Given the description of an element on the screen output the (x, y) to click on. 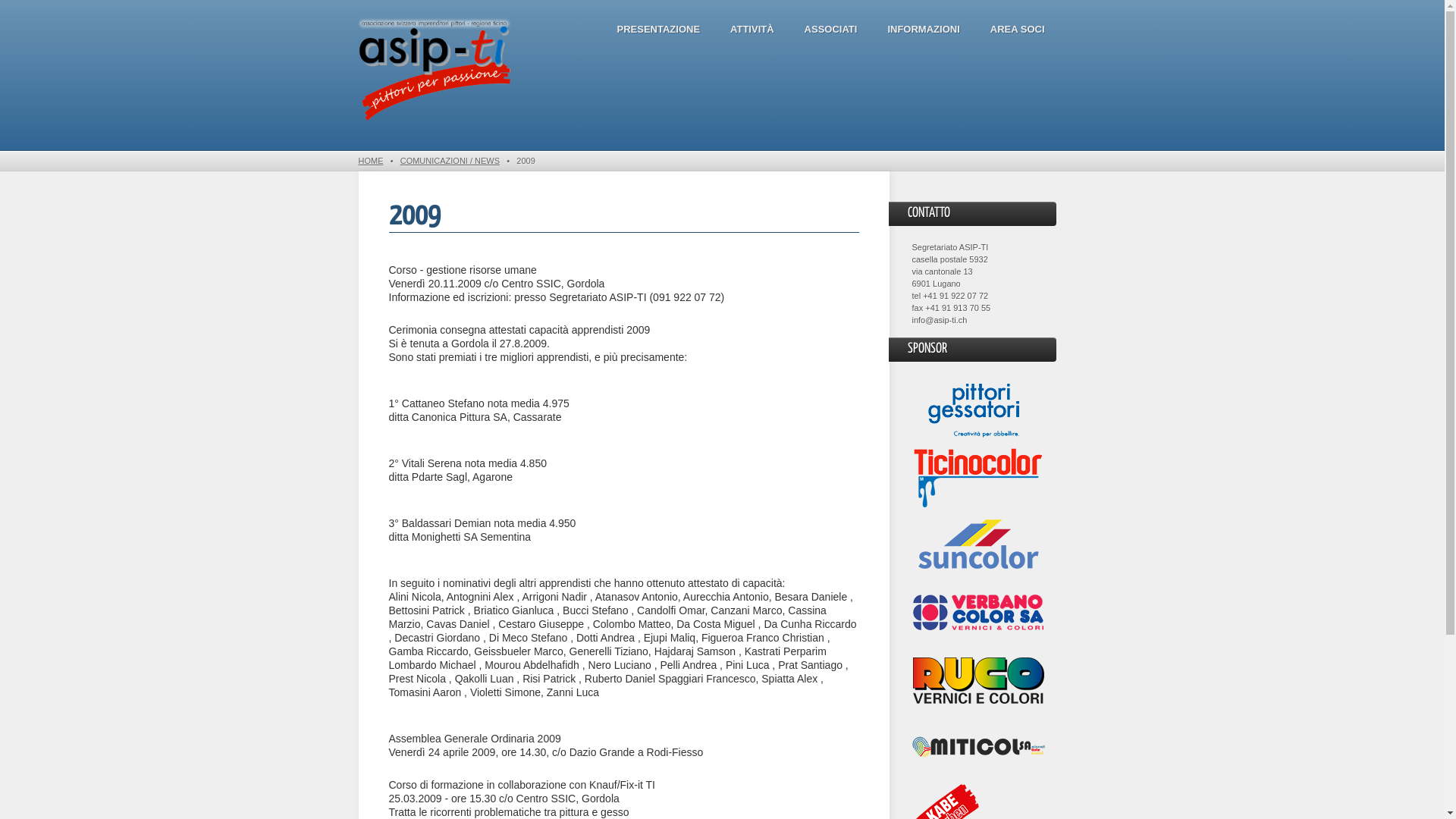
Associazione Svizzera Imprenditori Pittori - Regione Ticino Element type: hover (433, 70)
INFORMAZIONI Element type: text (922, 29)
COMUNICAZIONI / NEWS Element type: text (449, 160)
AREA SOCI Element type: text (1017, 29)
HOME Element type: text (369, 160)
PRESENTAZIONE Element type: text (658, 29)
ASSOCIATI Element type: text (831, 29)
